Given the description of an element on the screen output the (x, y) to click on. 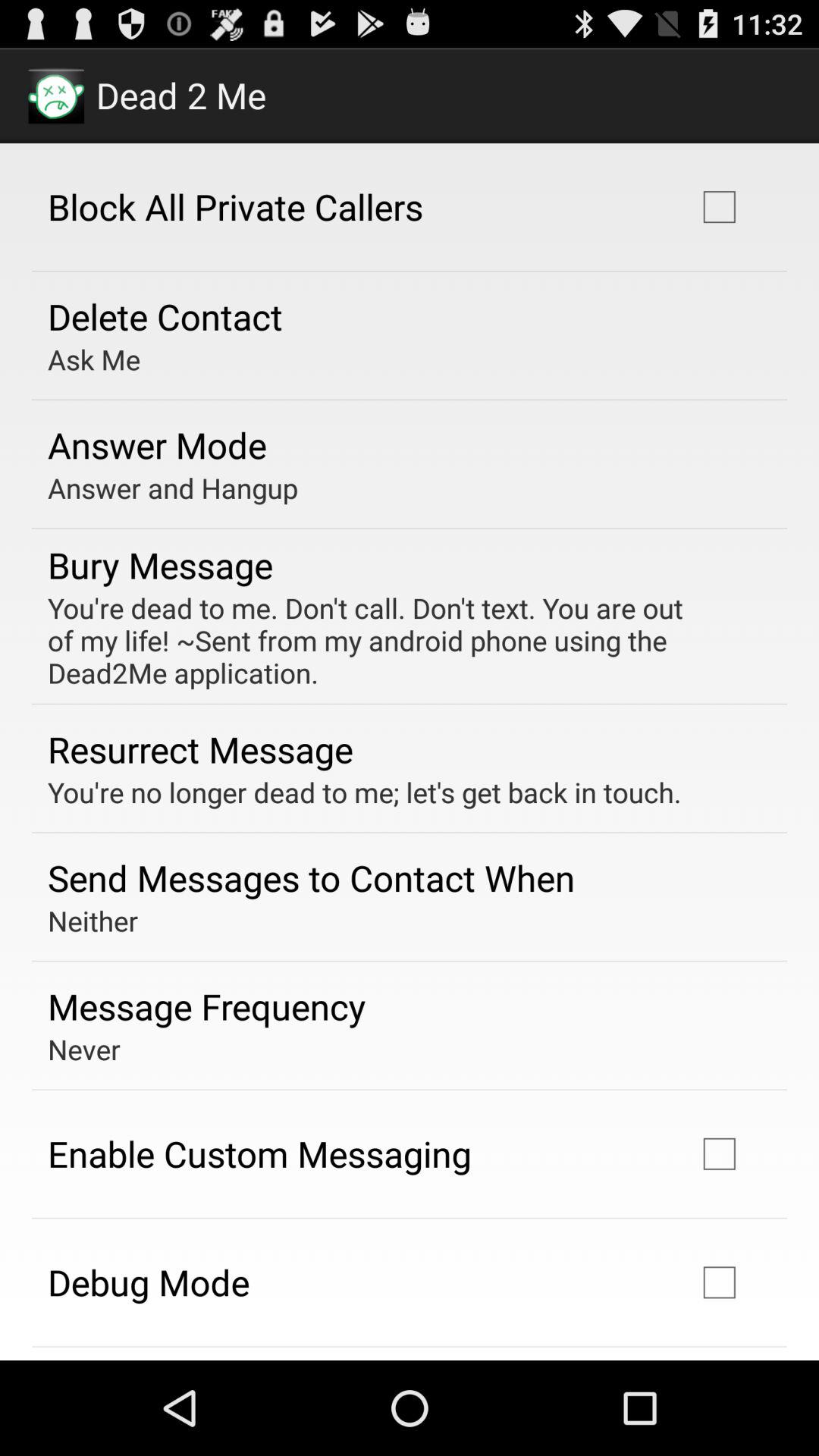
select the message frequency (206, 1006)
